Given the description of an element on the screen output the (x, y) to click on. 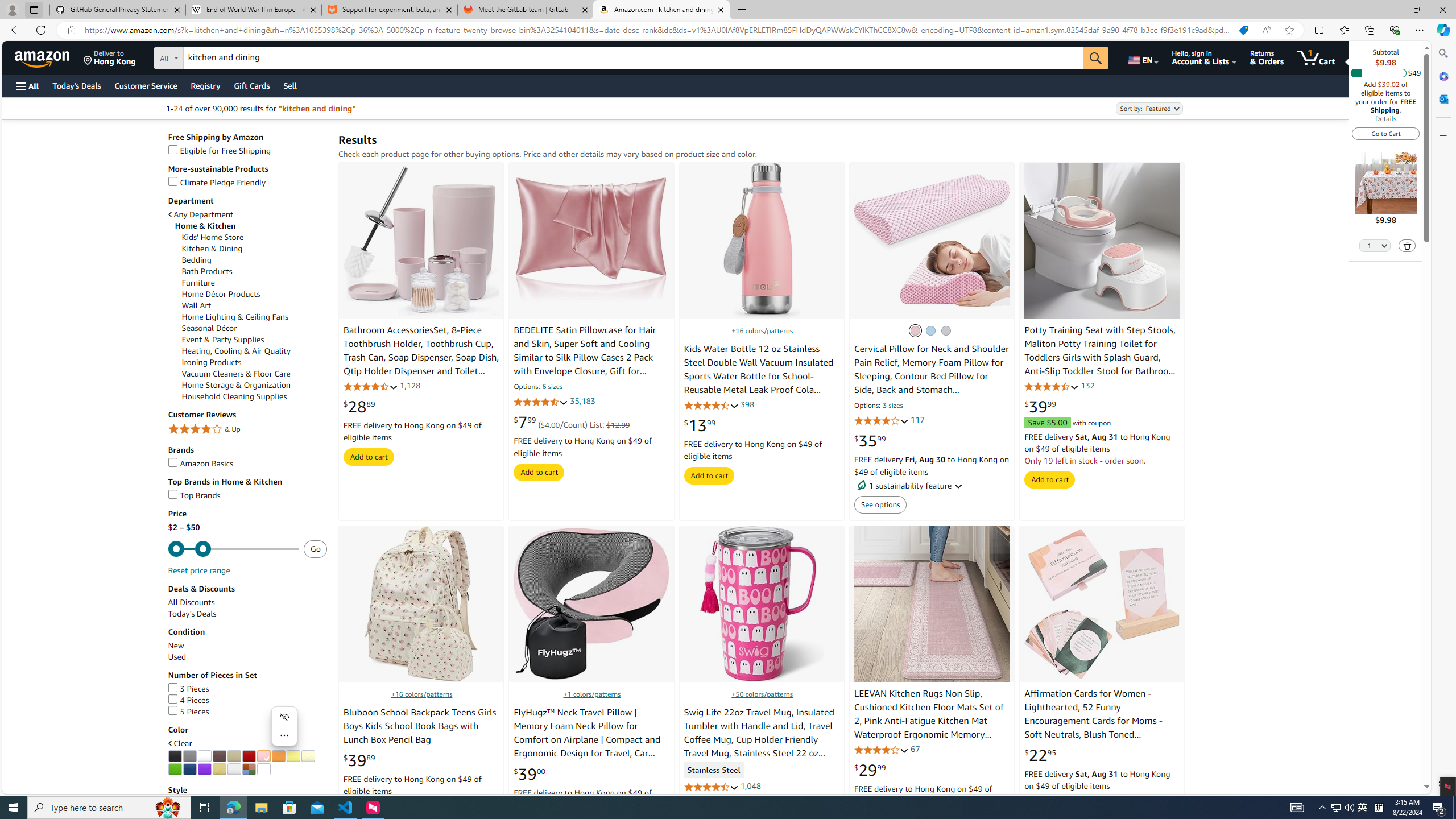
$39.00 (529, 774)
Skip to main content (48, 56)
New (247, 645)
3.9 out of 5 stars (880, 749)
Reset price range (198, 570)
Green (174, 769)
Maximum (233, 548)
AutomationID: p_n_feature_twenty_browse-bin/3254108011 (174, 769)
AutomationID: p_n_feature_twenty_browse-bin/3254106011 (292, 756)
Open Menu (26, 86)
AutomationID: p_n_feature_twenty_browse-bin/3254103011 (248, 756)
